Given the description of an element on the screen output the (x, y) to click on. 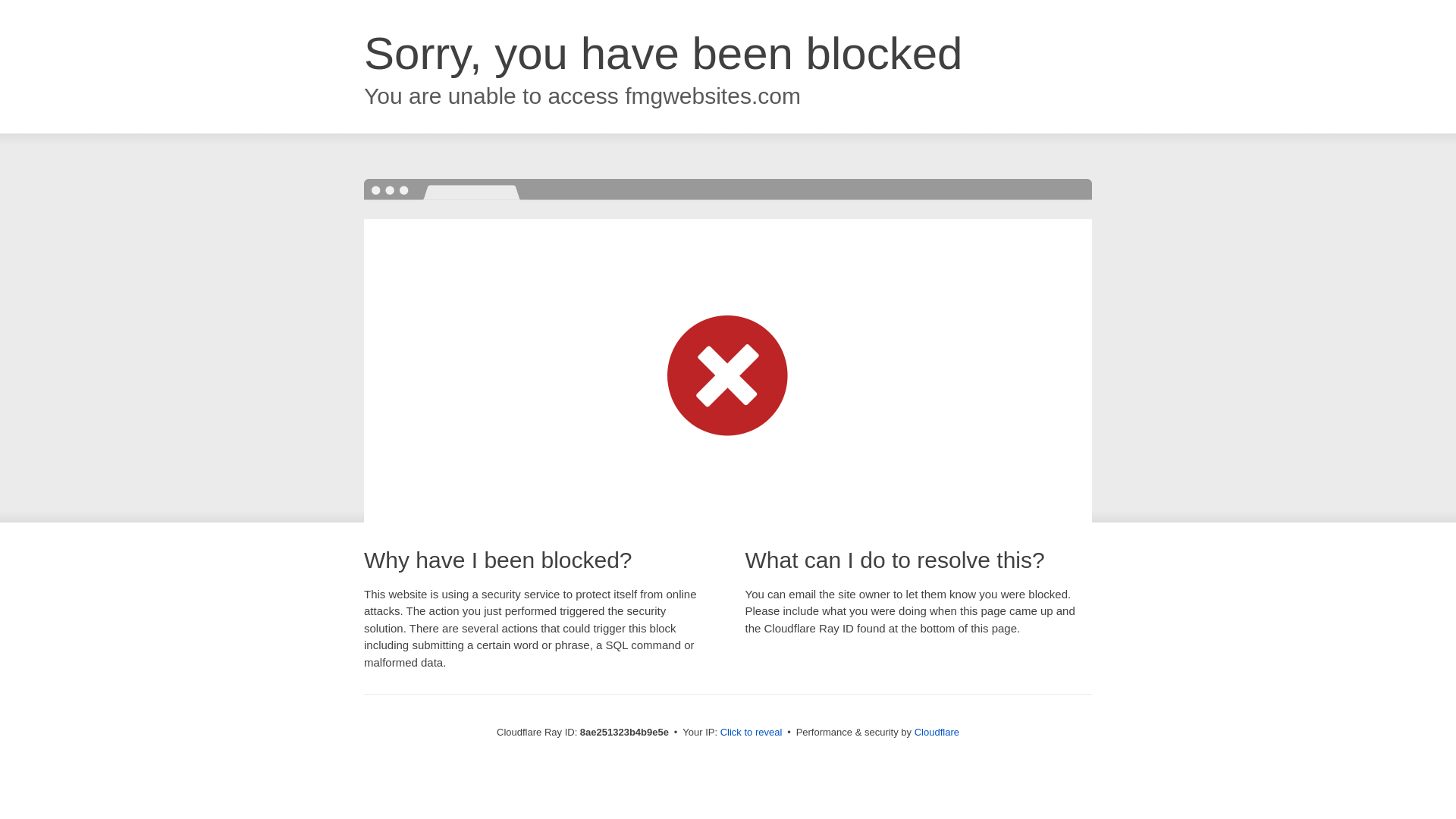
Cloudflare (936, 731)
Click to reveal (751, 732)
